Given the description of an element on the screen output the (x, y) to click on. 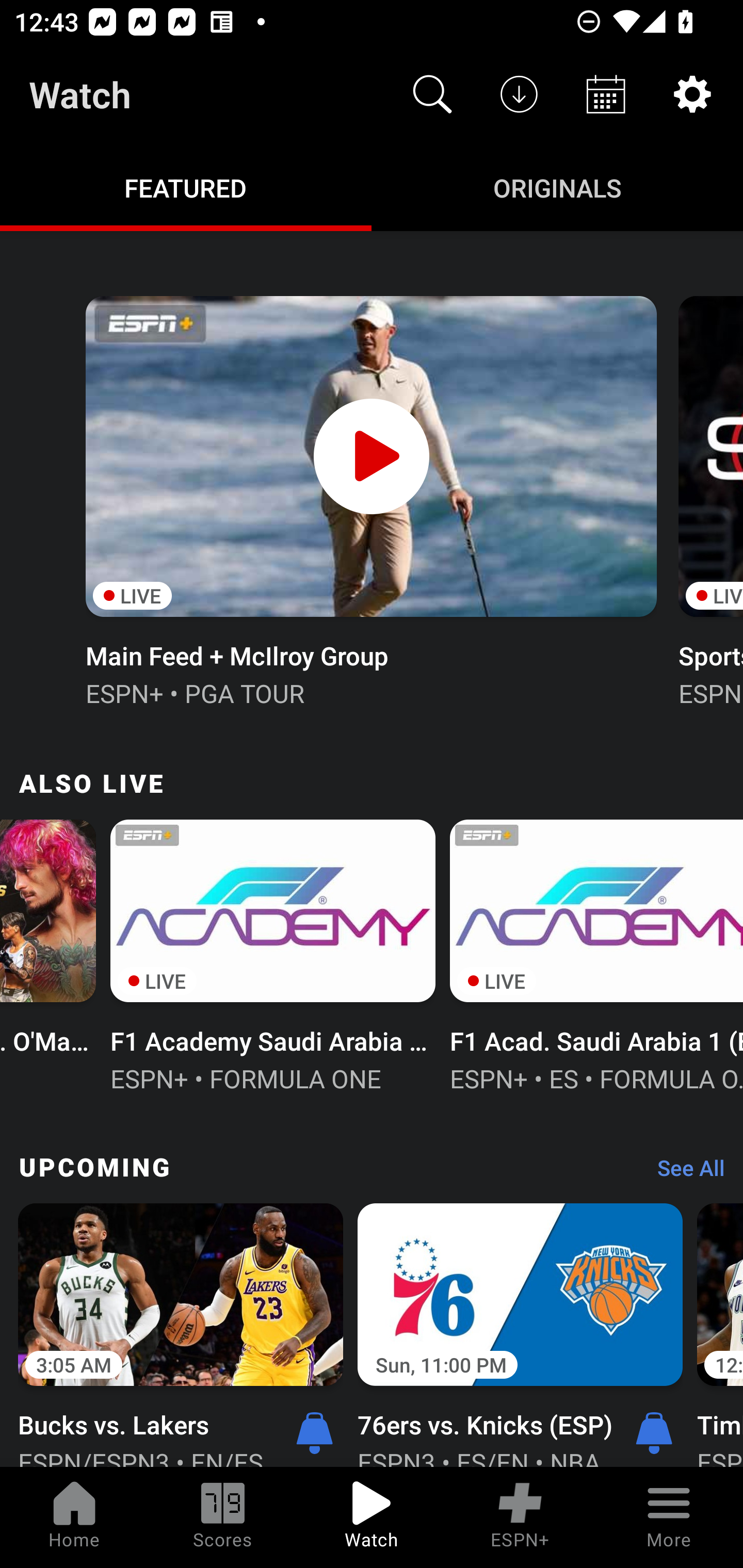
Search (432, 93)
Downloads (518, 93)
Schedule (605, 93)
Settings (692, 93)
Originals ORIGINALS (557, 187)
 LIVE Main Feed + McIlroy Group ESPN+ • PGA TOUR (370, 499)
See All (683, 1172)
Home (74, 1517)
Scores (222, 1517)
ESPN+ (519, 1517)
More (668, 1517)
